Given the description of an element on the screen output the (x, y) to click on. 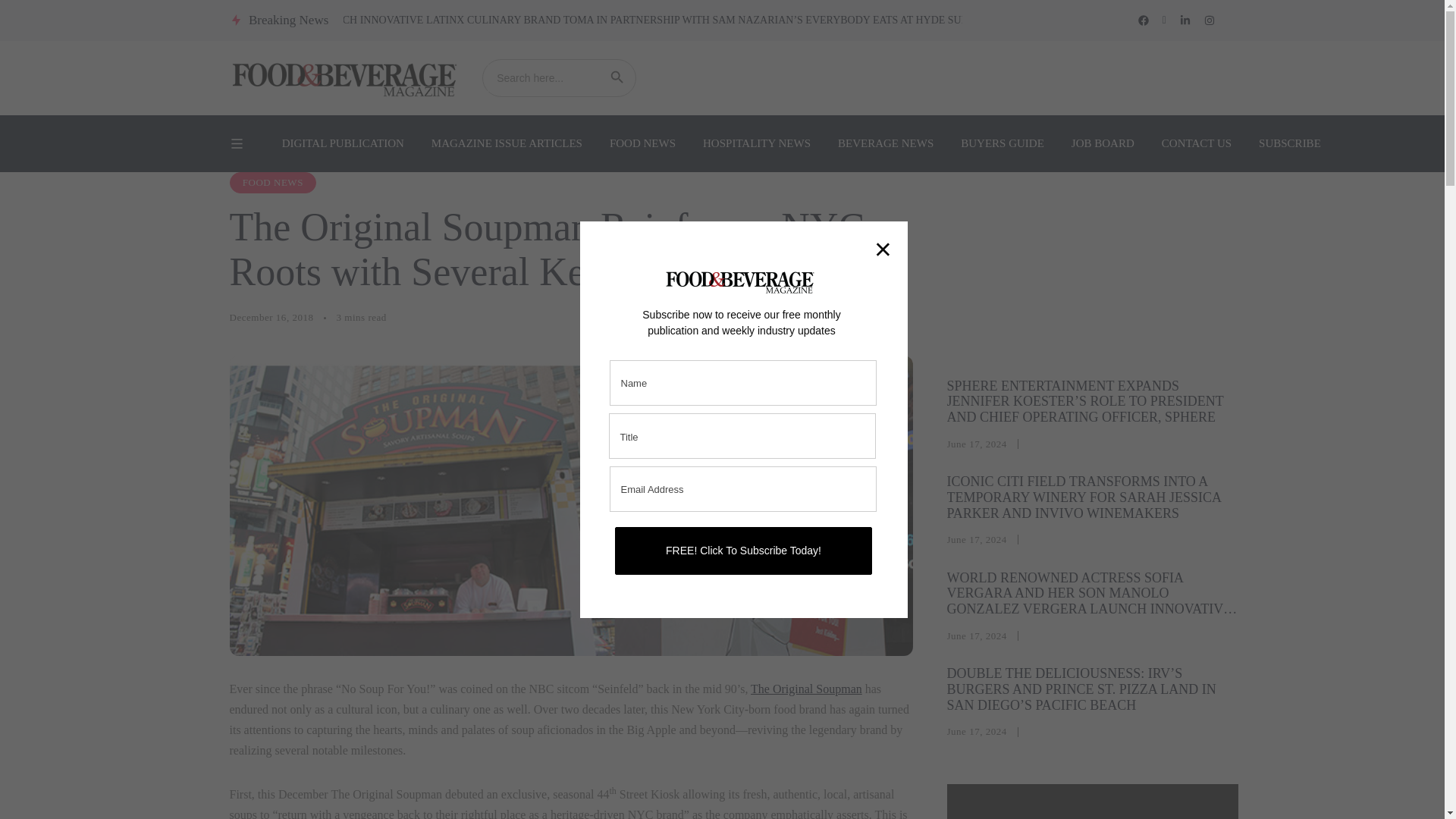
DIGITAL PUBLICATION (342, 143)
MAGAZINE ISSUE ARTICLES (506, 143)
instagram (1209, 20)
linkedin (1185, 20)
BEVERAGE NEWS (884, 143)
facebook (1143, 20)
Search Button (617, 77)
FOOD NEWS (641, 143)
HOSPITALITY NEWS (756, 143)
